Given the description of an element on the screen output the (x, y) to click on. 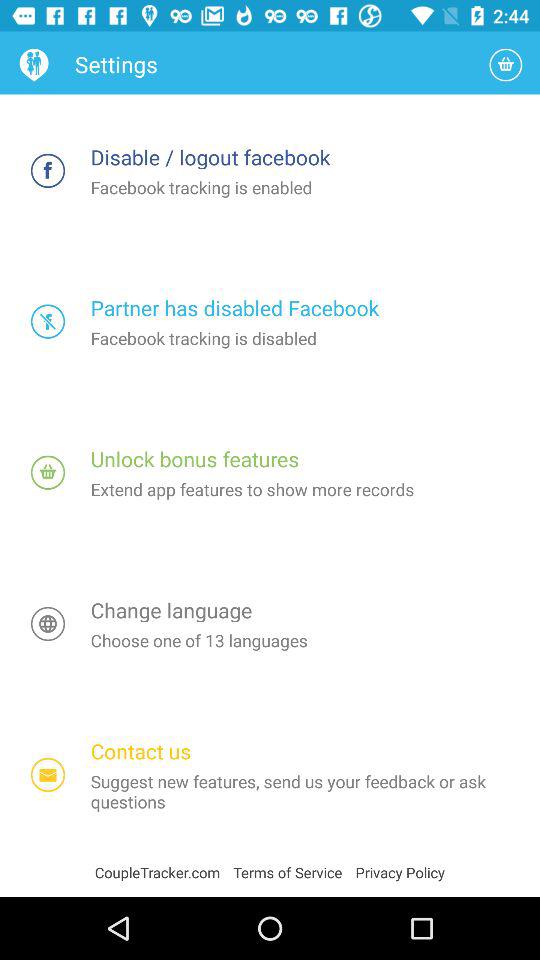
turn off coupletracker.com icon (163, 872)
